Given the description of an element on the screen output the (x, y) to click on. 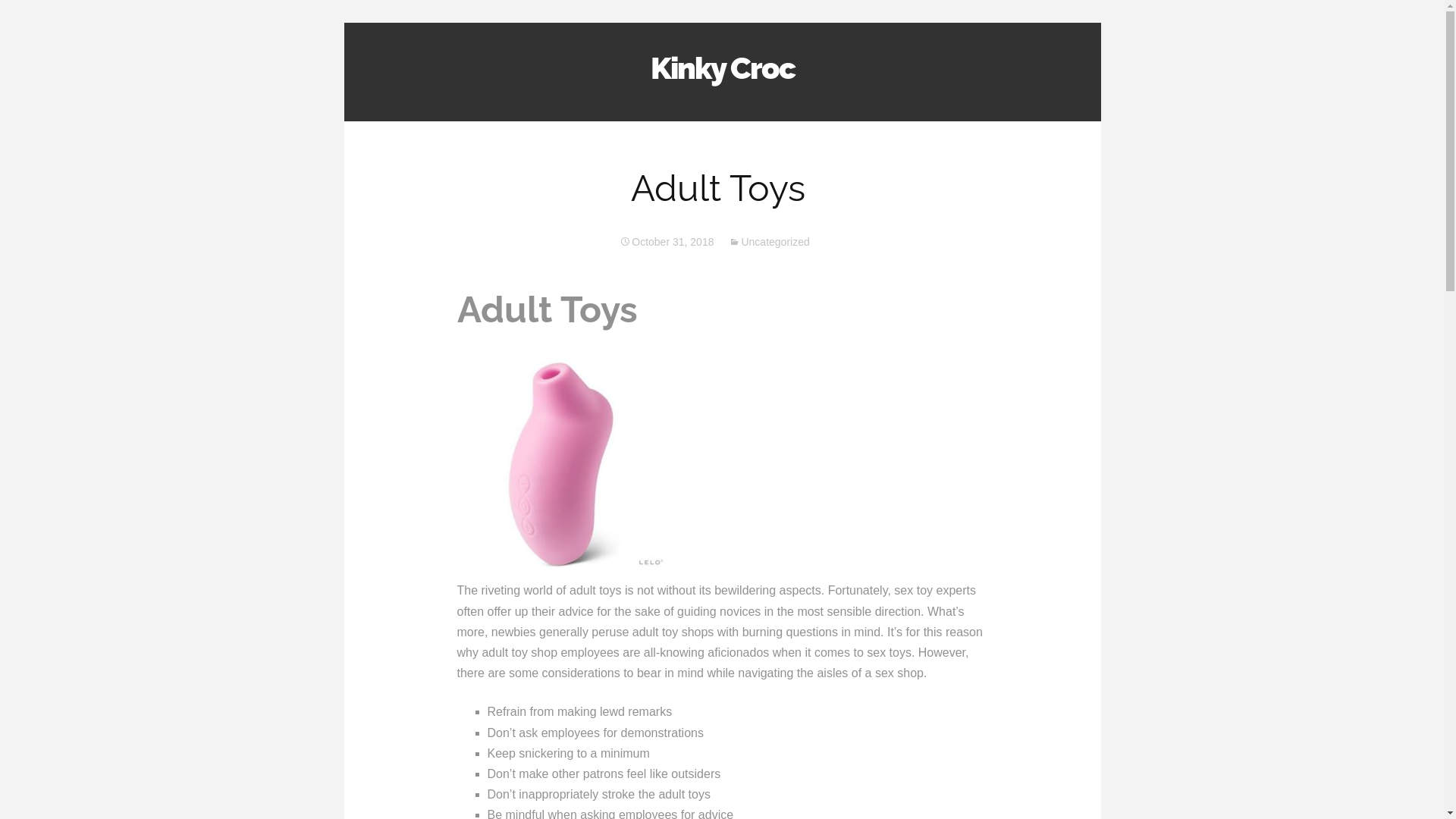
Skip to content Element type: text (761, 108)
Uncategorized Element type: text (768, 241)
October 31, 2018 Element type: text (666, 241)
Kinky Croc Element type: text (722, 60)
